Given the description of an element on the screen output the (x, y) to click on. 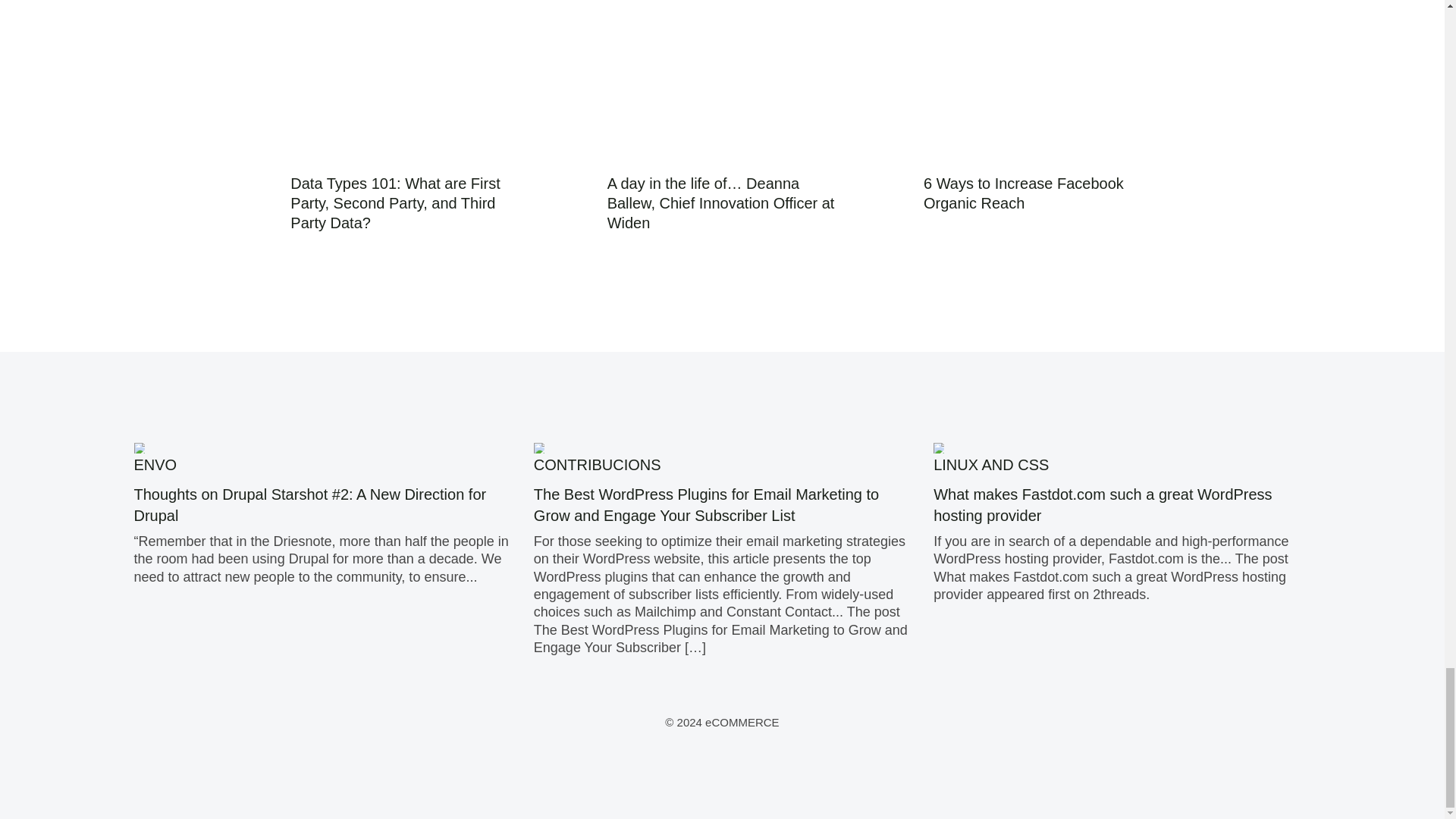
LINUX AND CSS (990, 464)
6 Ways to Increase Facebook Organic Reach (1023, 193)
CONTRIBUCIONS (597, 464)
ENVO (154, 464)
